Given the description of an element on the screen output the (x, y) to click on. 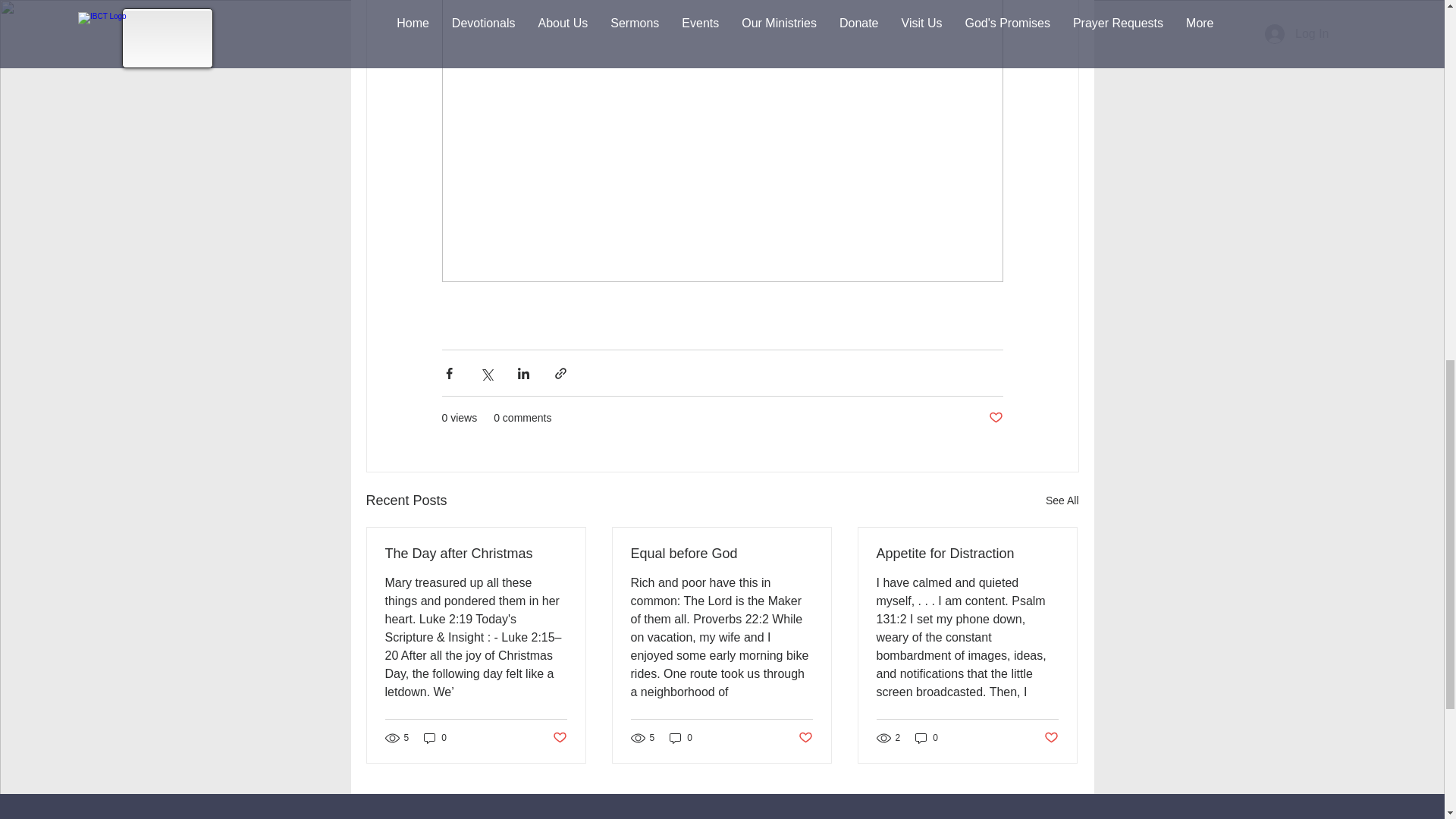
Equal before God (721, 553)
See All (1061, 500)
Appetite for Distraction (967, 553)
The Day after Christmas (476, 553)
Post not marked as liked (558, 738)
0 (681, 738)
0 (926, 738)
Post not marked as liked (995, 417)
Post not marked as liked (804, 738)
0 (435, 738)
